Given the description of an element on the screen output the (x, y) to click on. 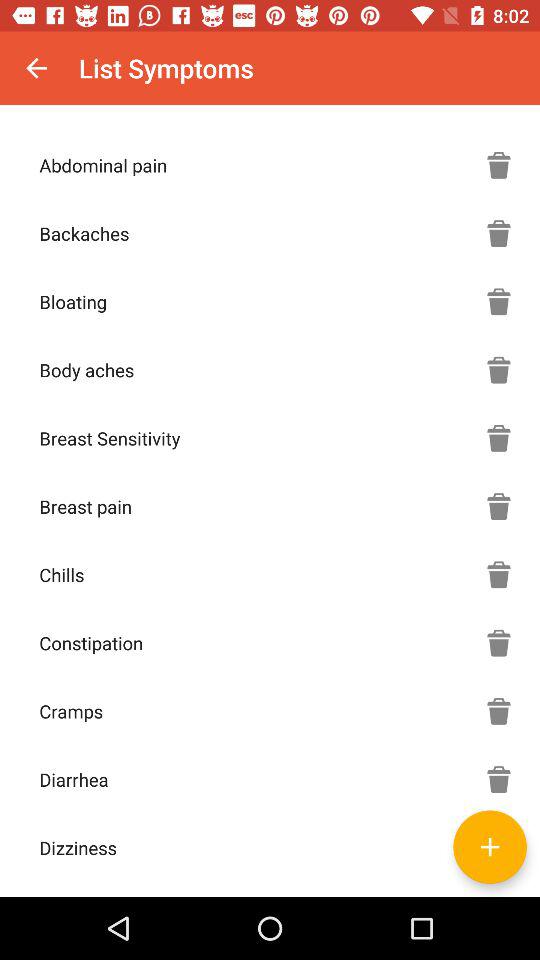
delete box (499, 370)
